Given the description of an element on the screen output the (x, y) to click on. 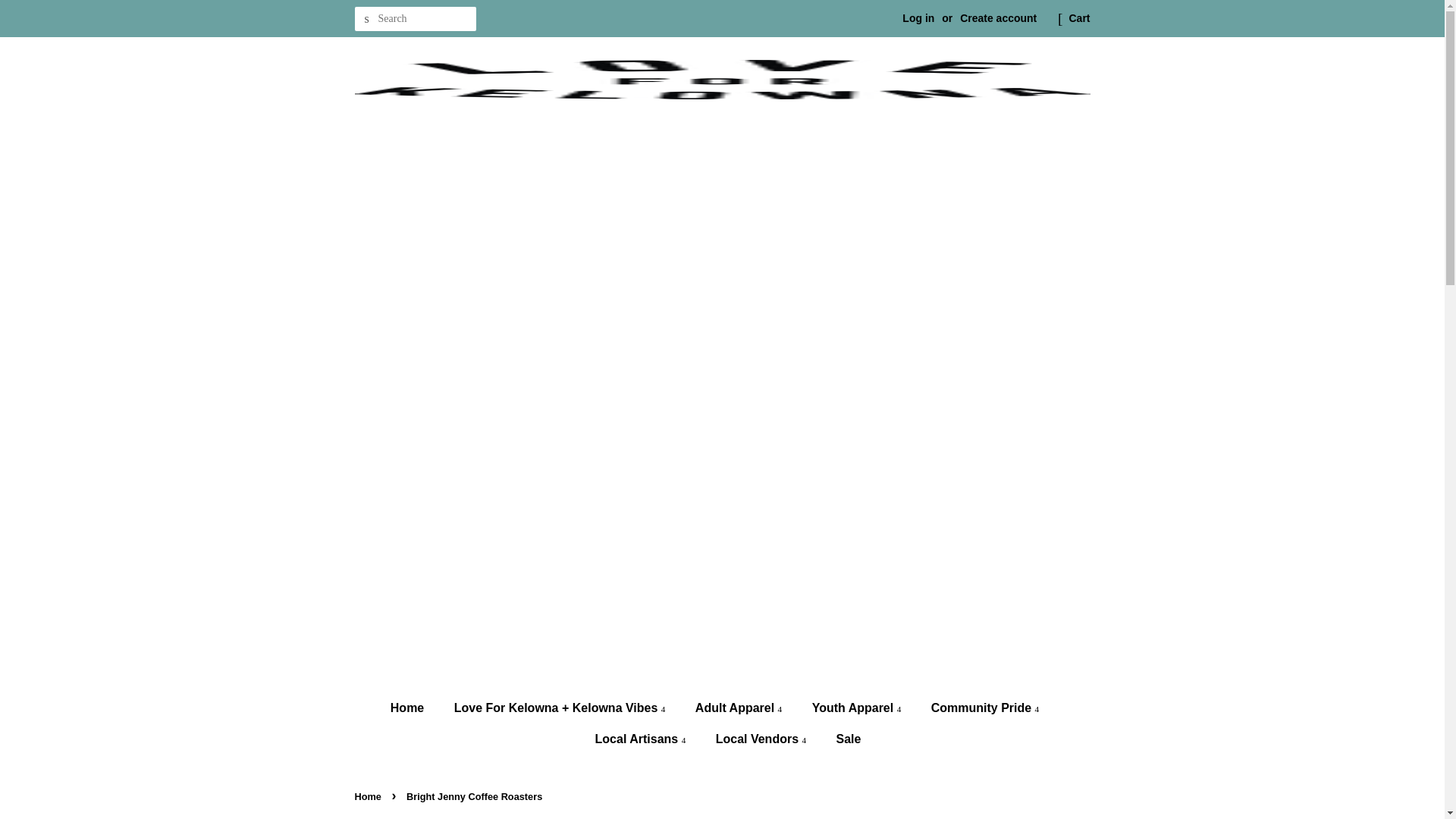
Log in (918, 18)
Search (366, 18)
Cart (1078, 18)
Create account (997, 18)
Back to the frontpage (370, 796)
